Given the description of an element on the screen output the (x, y) to click on. 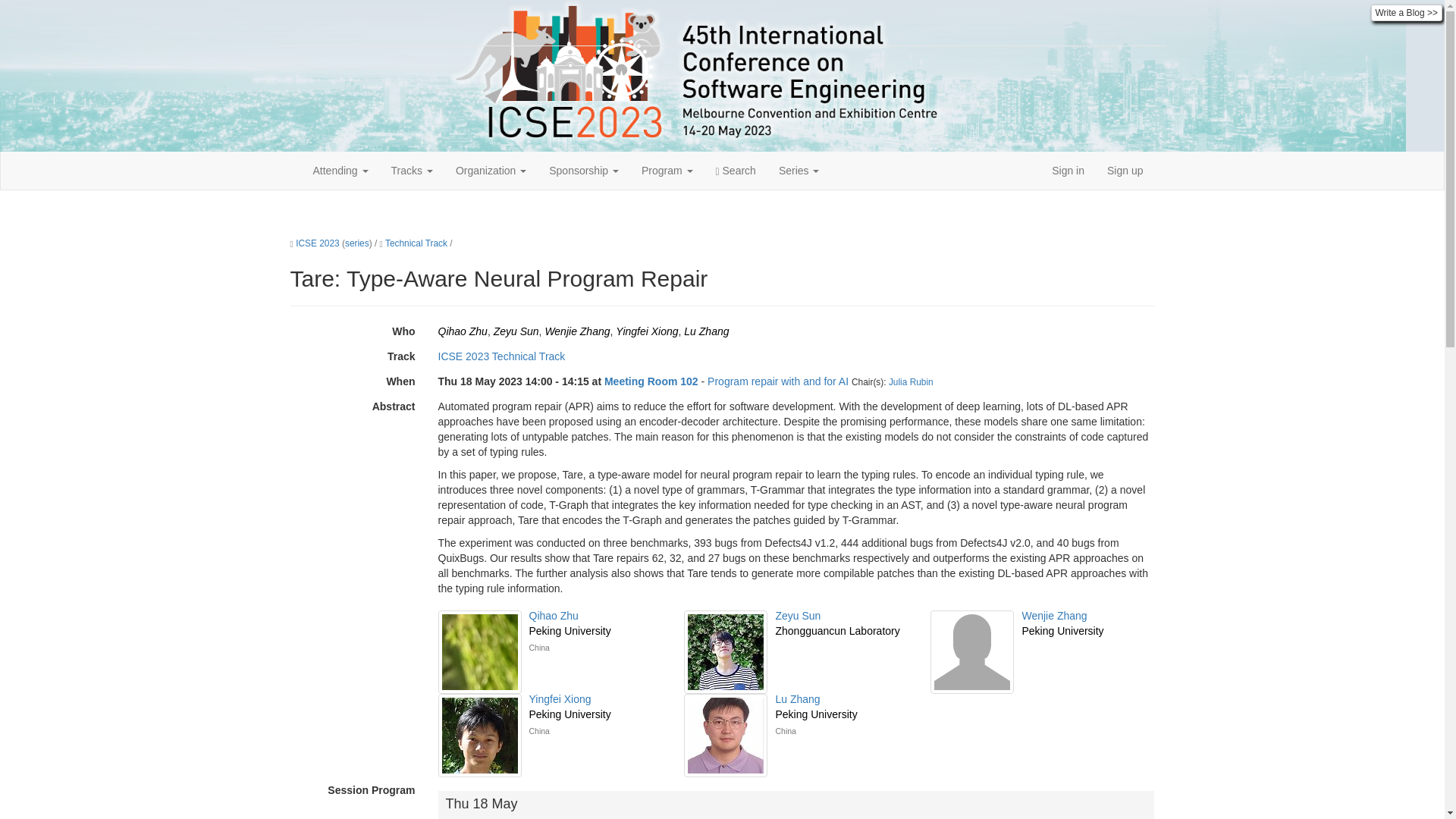
Tracks (412, 170)
Attending (340, 170)
